Given the description of an element on the screen output the (x, y) to click on. 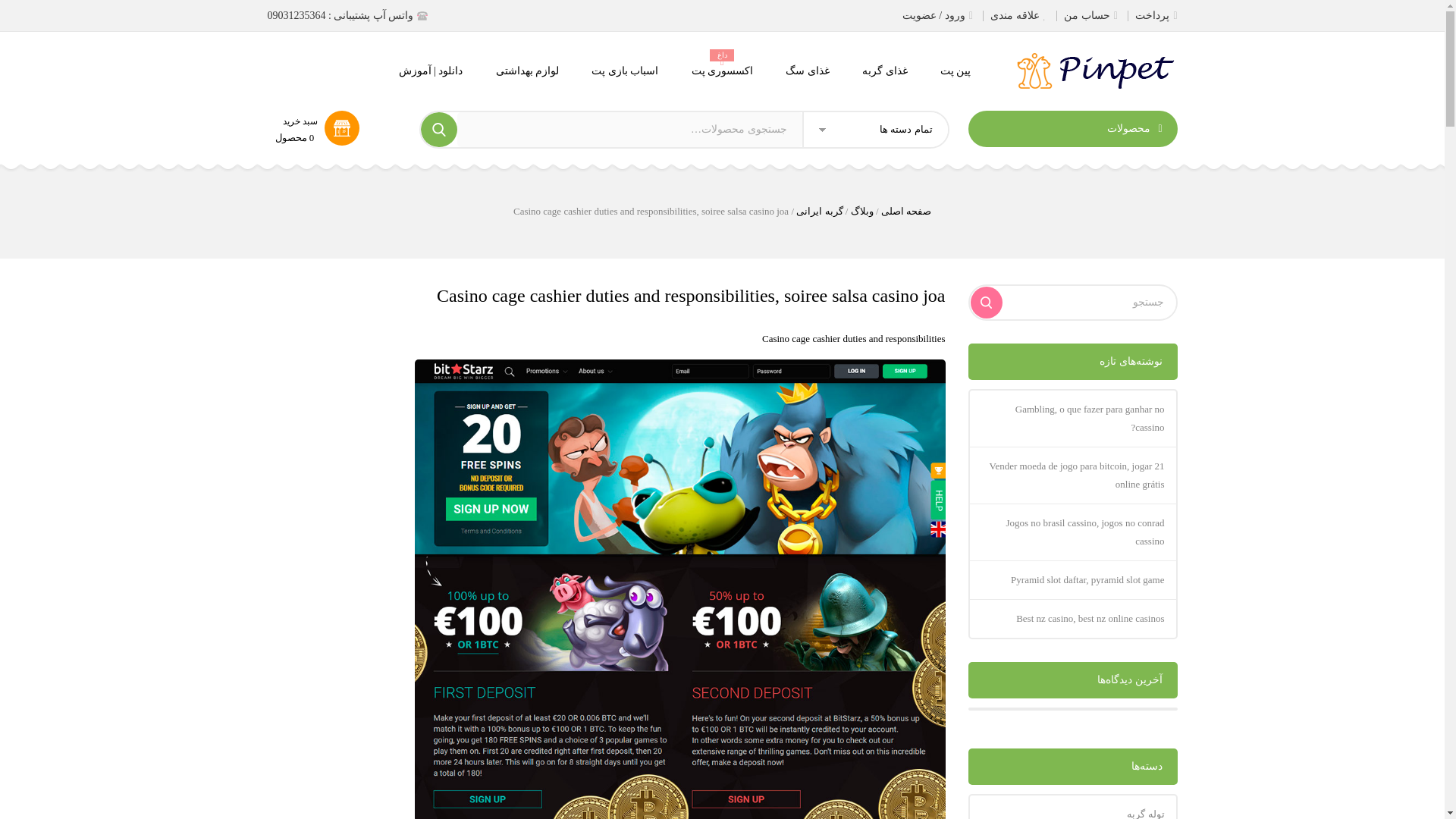
Search for: (629, 129)
